Given the description of an element on the screen output the (x, y) to click on. 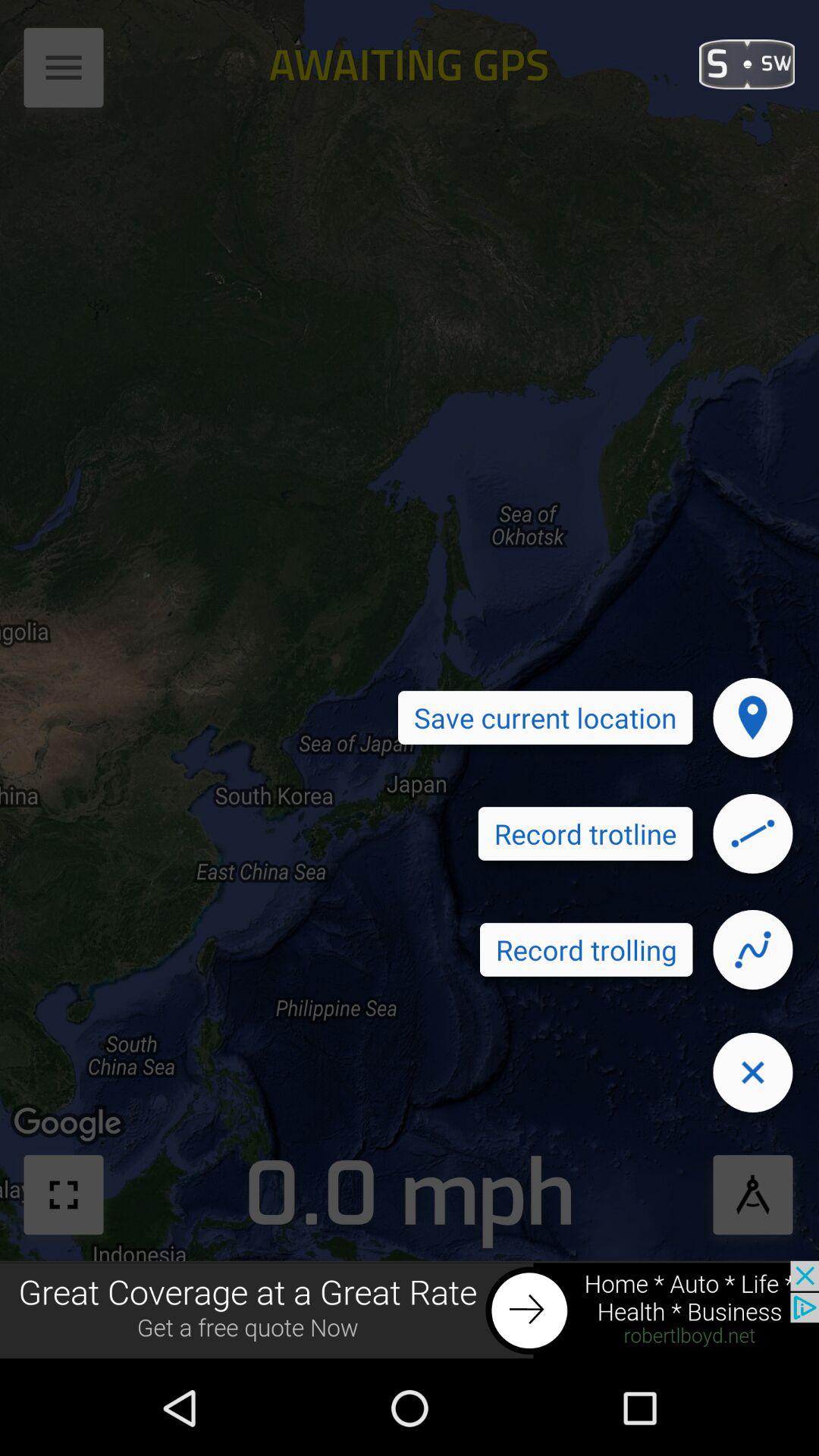
exit button (752, 1072)
